Given the description of an element on the screen output the (x, y) to click on. 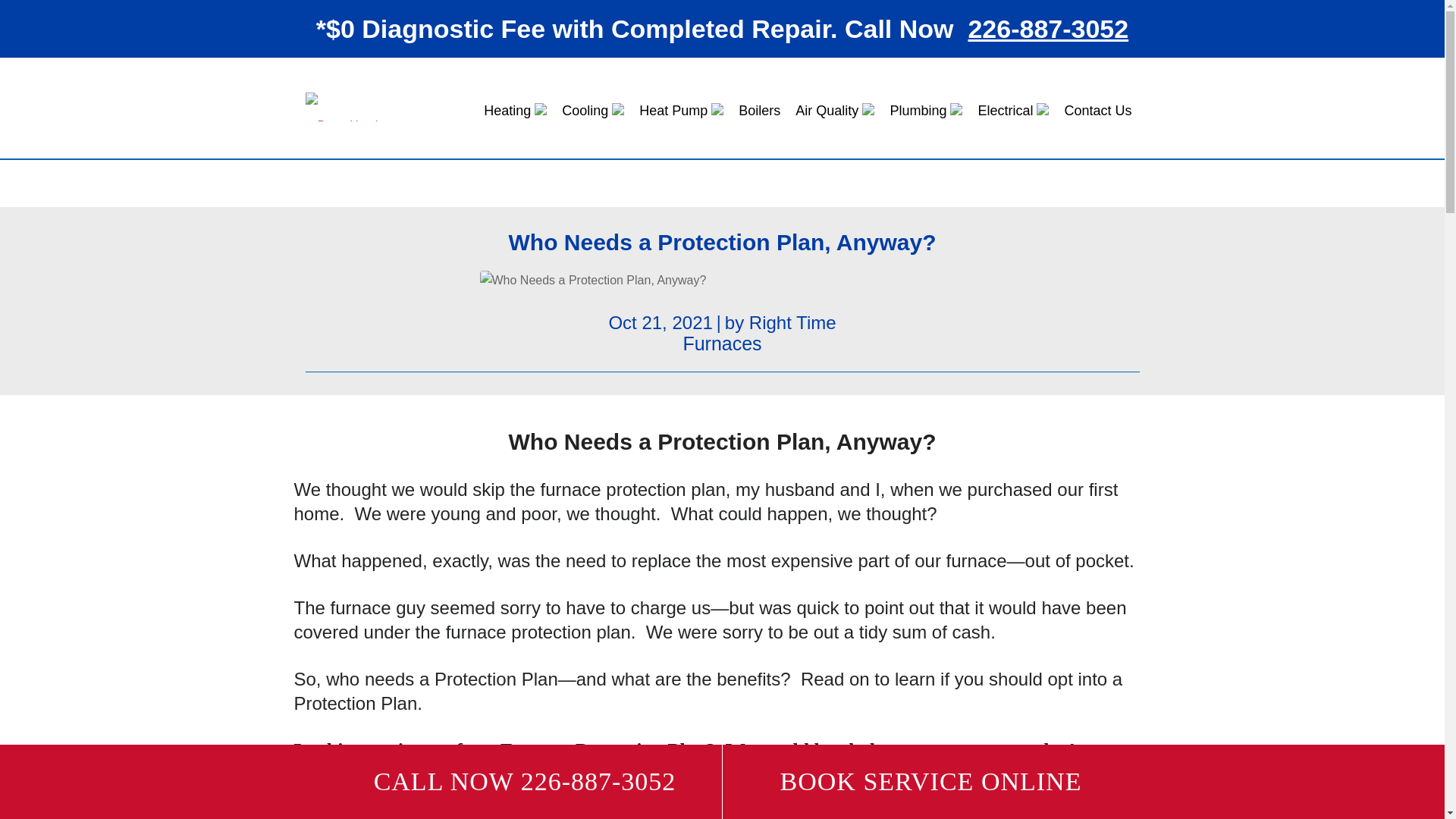
Air Quality (834, 110)
Cooling (592, 110)
Heat Pump (680, 110)
Electrical (1013, 110)
226-887-3052 (1048, 28)
Permanent Link: Who Needs a Protection Plan, Anyway? (722, 242)
Heating (515, 110)
Plumbing (925, 110)
Boilers (758, 110)
